Given the description of an element on the screen output the (x, y) to click on. 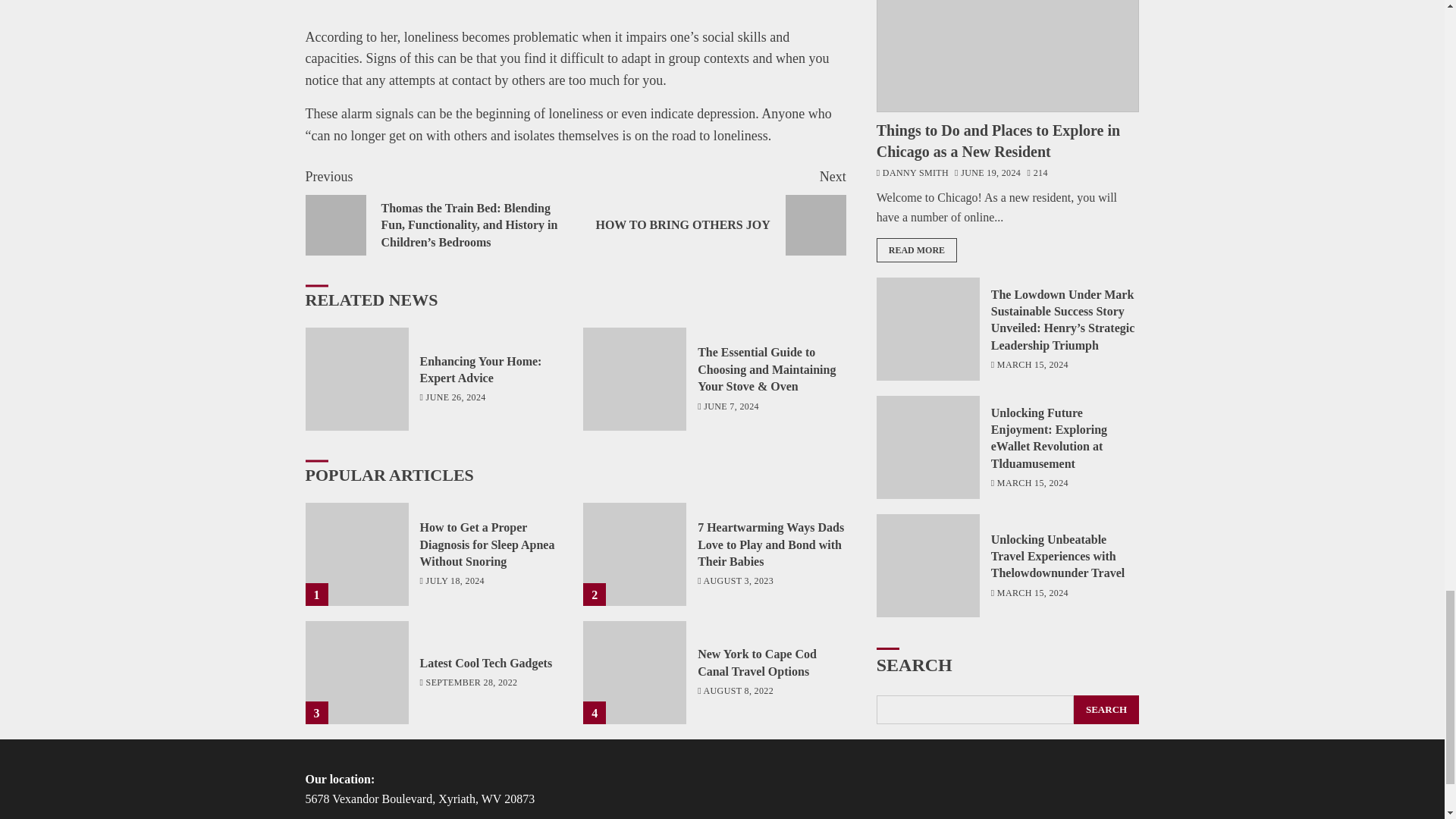
Latest Cool Tech Gadgets (355, 671)
New York to Cape Cod Canal Travel Options (756, 662)
New York to Cape Cod Canal Travel Options (710, 211)
Latest Cool Tech Gadgets (634, 671)
Enhancing Your Home: Expert Advice (486, 663)
Enhancing Your Home: Expert Advice (480, 369)
